Given the description of an element on the screen output the (x, y) to click on. 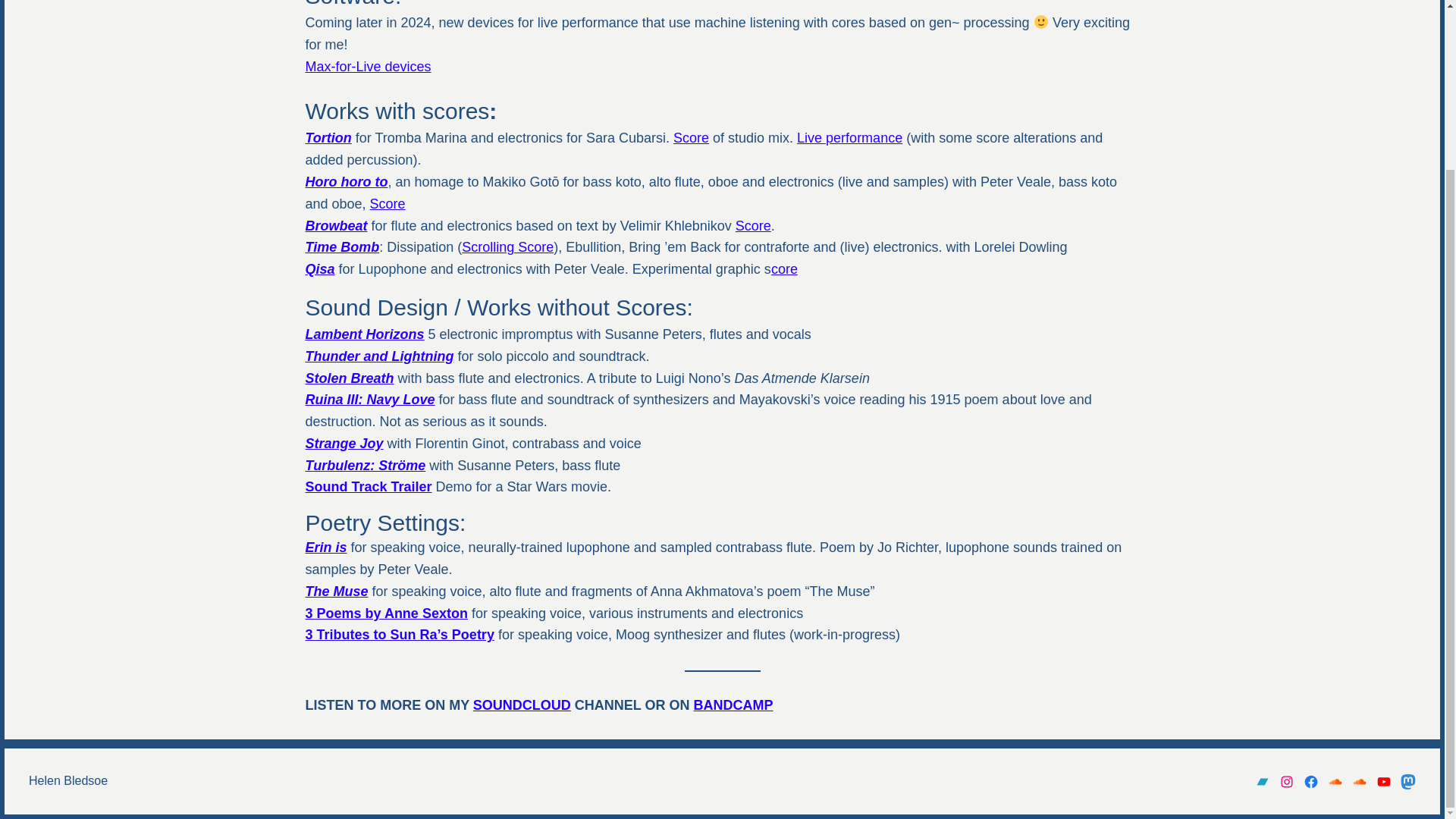
Strange Joy (343, 443)
Score (753, 225)
Tortion (327, 137)
Ruina III: Navy Love (368, 399)
core (784, 268)
Sound Track Trailer (367, 486)
Erin is (325, 547)
Soundcloud (1334, 781)
3 Poems by Anne Sexton (385, 613)
Live performance (849, 137)
